Given the description of an element on the screen output the (x, y) to click on. 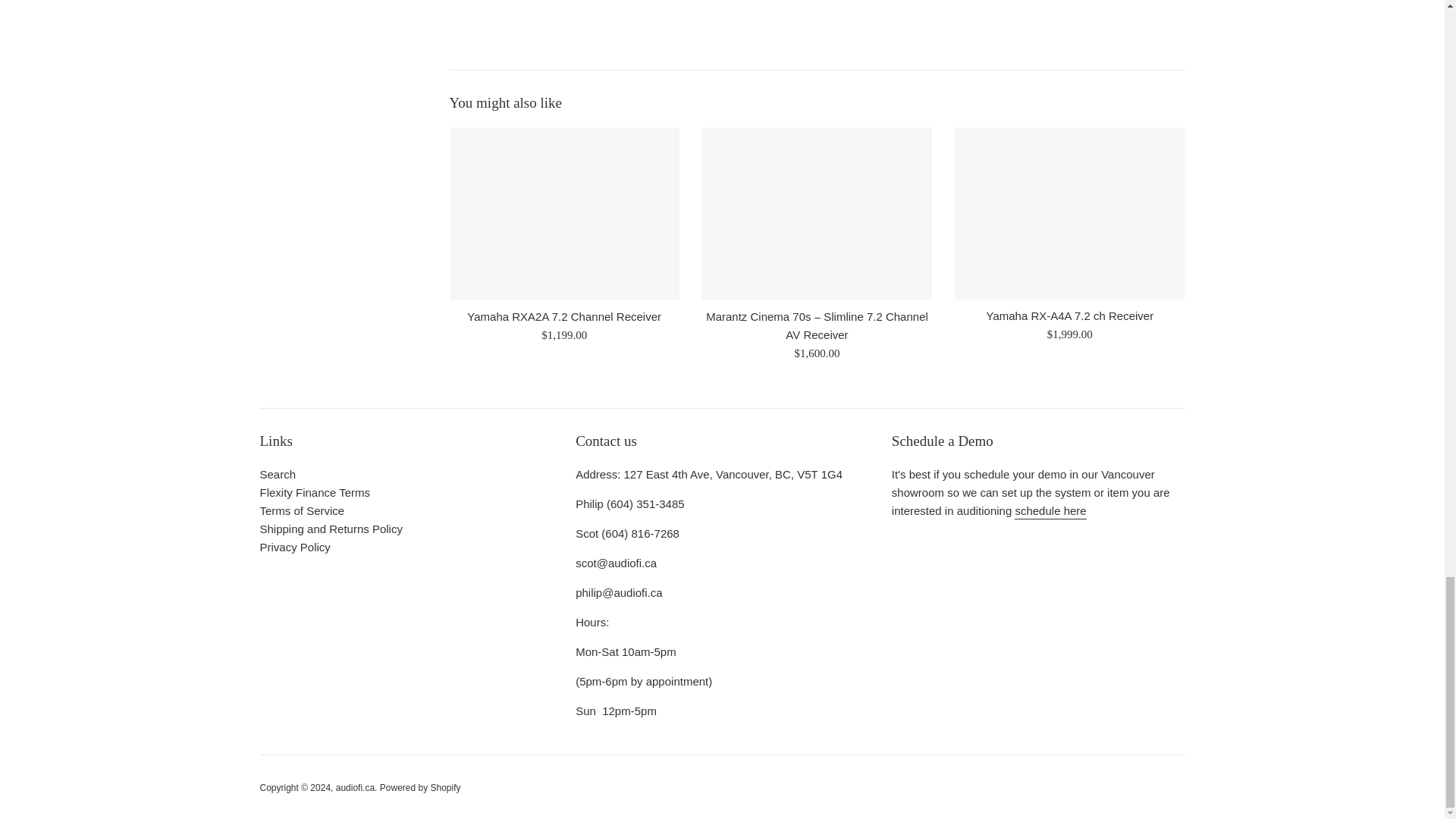
Schedule a Demonstration and Listening Session. (1050, 511)
Yamaha RX-A4A 7.2 ch Receiver (1070, 213)
Yamaha RXA2A 7.2 Channel Receiver (563, 213)
